Given the description of an element on the screen output the (x, y) to click on. 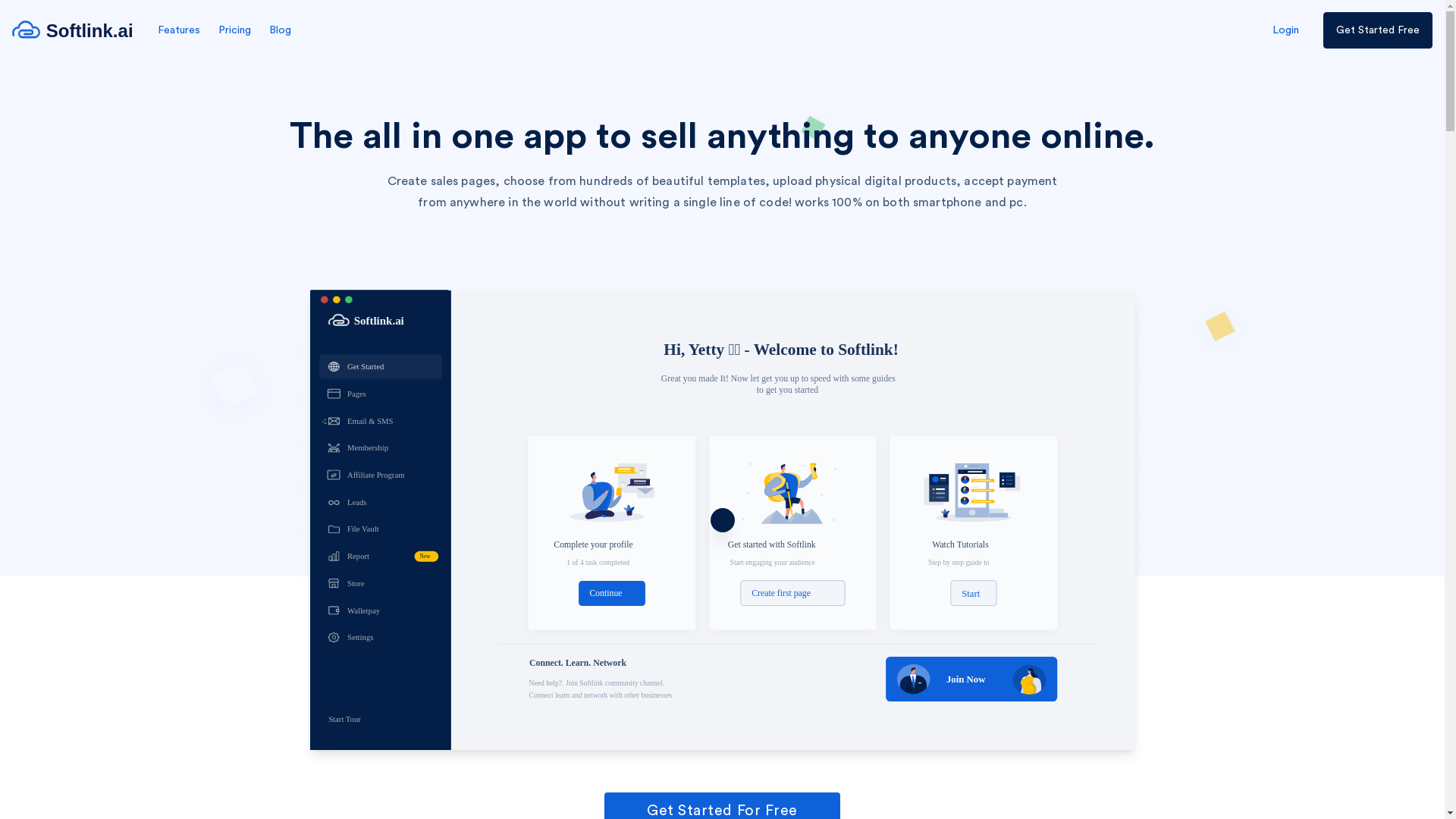
Pricing Element type: text (234, 30)
Features Element type: text (178, 30)
Blog Element type: text (280, 30)
Get Started Free Element type: text (1377, 30)
Login Element type: text (1285, 29)
